Given the description of an element on the screen output the (x, y) to click on. 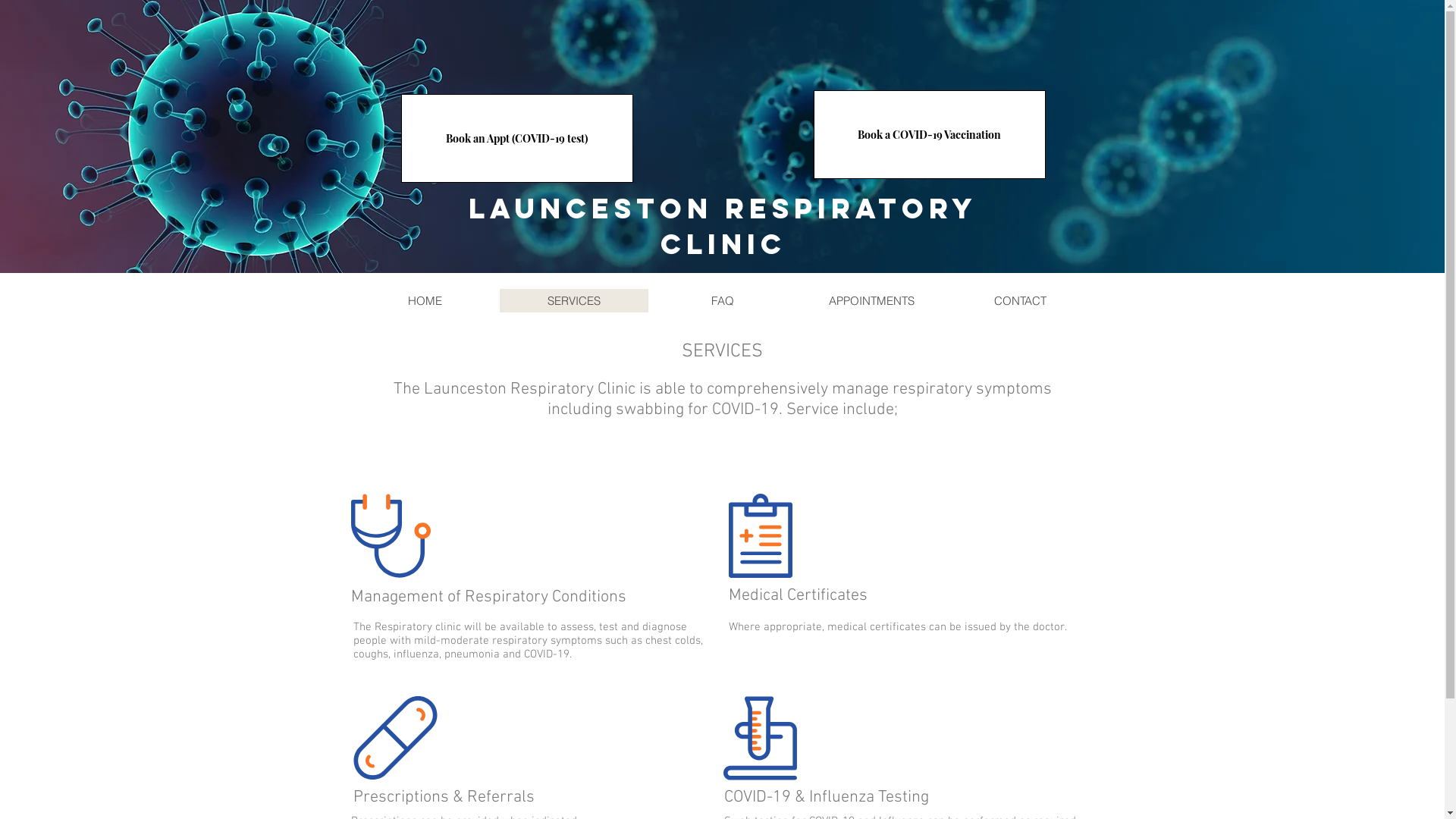
Book a COVID-19 Vaccination Element type: text (928, 134)
HOME Element type: text (424, 300)
SERVICES Element type: text (572, 300)
FAQ Element type: text (721, 300)
APPOINTMENTS Element type: text (870, 300)
CONTACT Element type: text (1018, 300)
Book an Appt (COVID-19 test) Element type: text (516, 138)
